Given the description of an element on the screen output the (x, y) to click on. 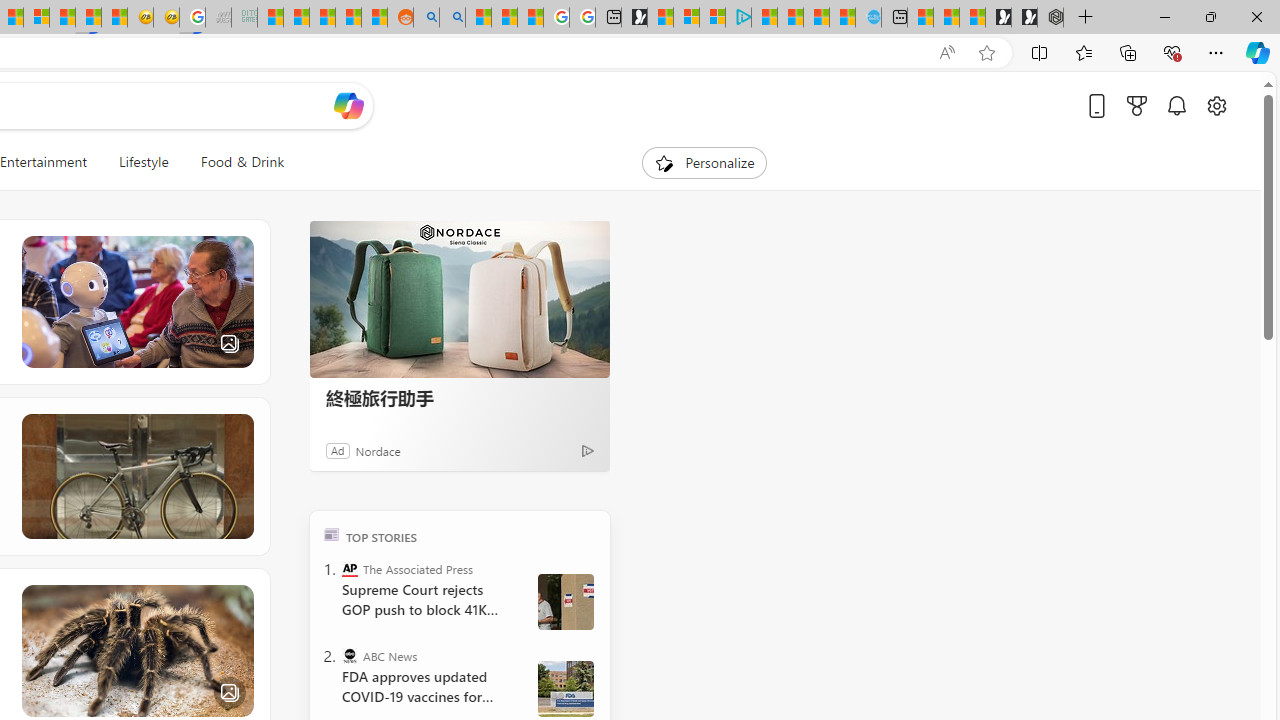
The Associated Press (349, 568)
